Given the description of an element on the screen output the (x, y) to click on. 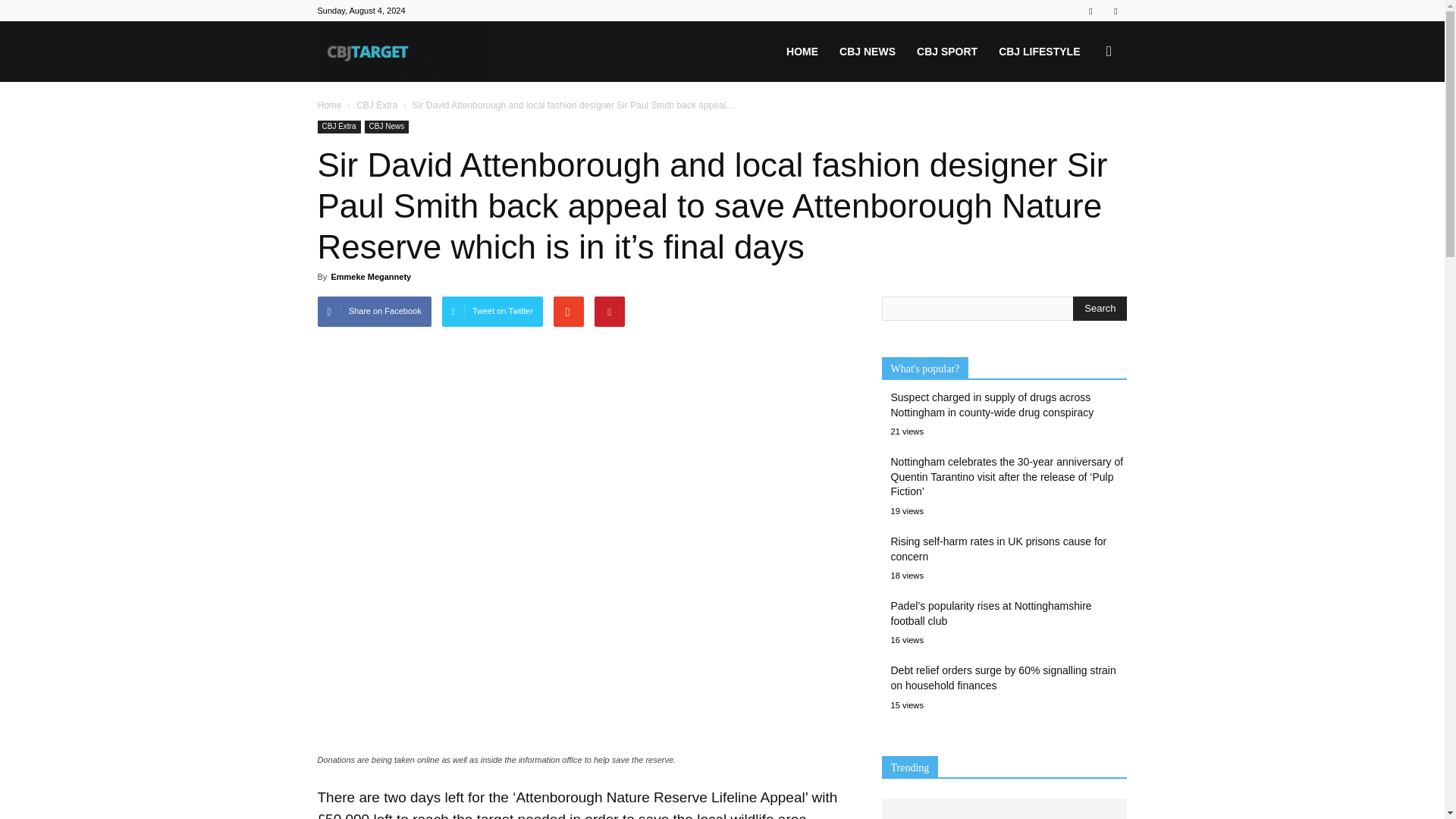
Tweet on Twitter (492, 311)
CBJ Extra (376, 104)
CBJ LIFESTYLE (1039, 51)
Emmeke Megannety (370, 276)
Facebook (1090, 10)
Nottingham Harmonic choir prepares for annual autumn concert (1003, 800)
Search (1099, 308)
Search (1099, 308)
CBJ SPORT (946, 51)
Share on Facebook (373, 311)
